Given the description of an element on the screen output the (x, y) to click on. 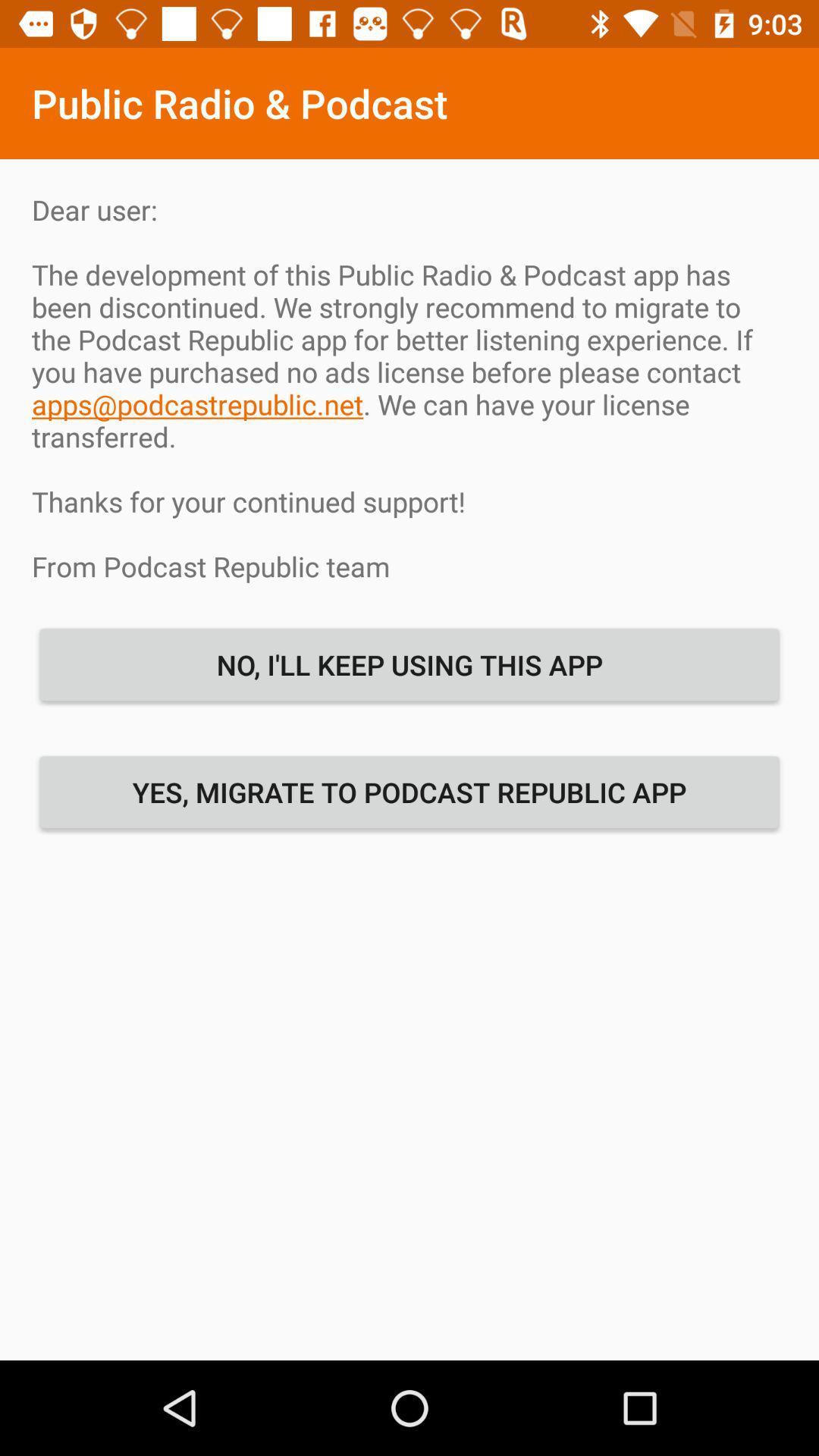
open the icon above yes migrate to icon (409, 664)
